Given the description of an element on the screen output the (x, y) to click on. 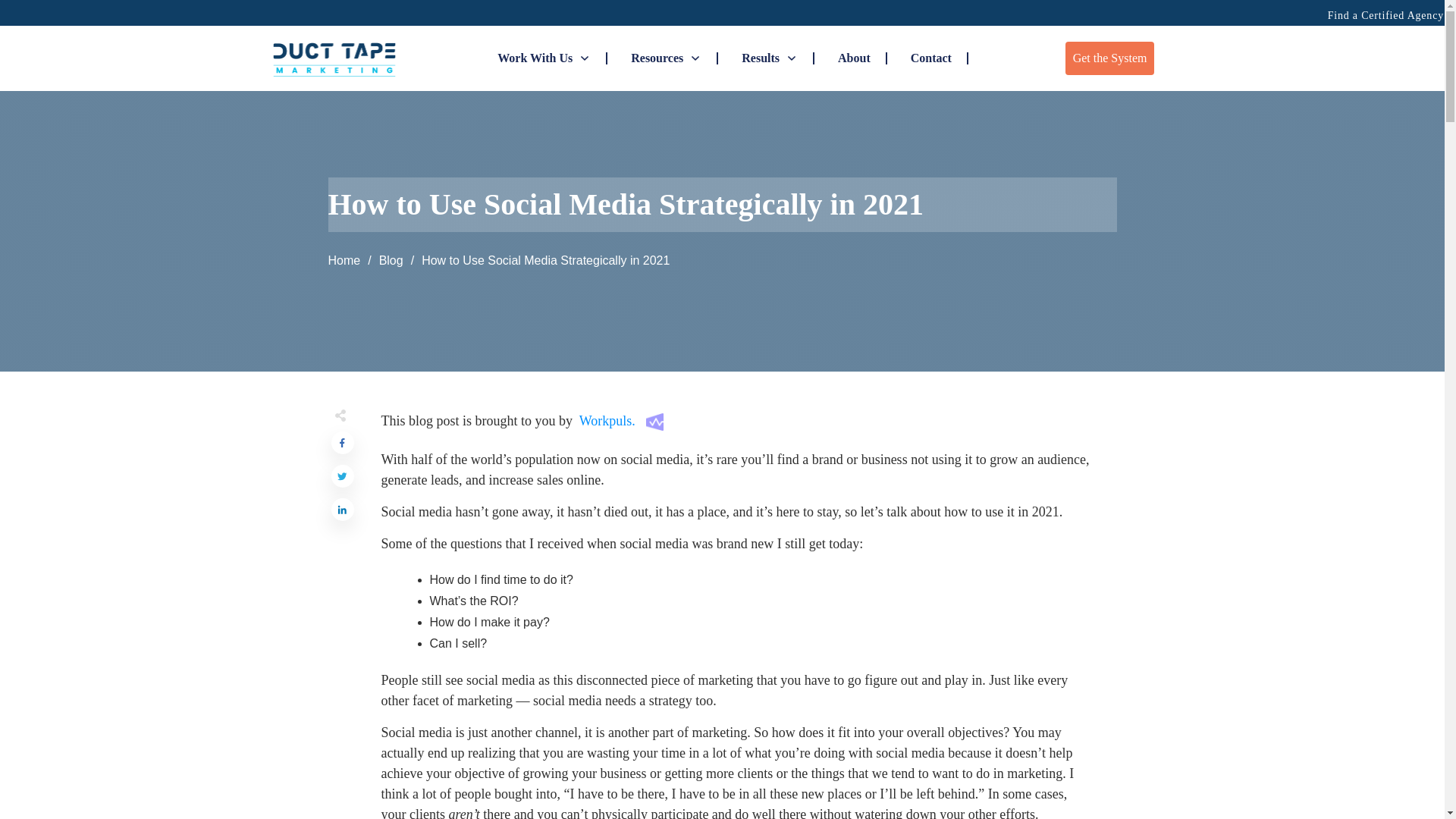
Work With Us (544, 58)
Results (769, 58)
About (854, 58)
Blog (390, 260)
Get the System (1109, 58)
Find a Certified Agency (1385, 15)
Contact (931, 58)
Home (343, 260)
Workpuls.  (609, 420)
Get the System (1109, 58)
